Given the description of an element on the screen output the (x, y) to click on. 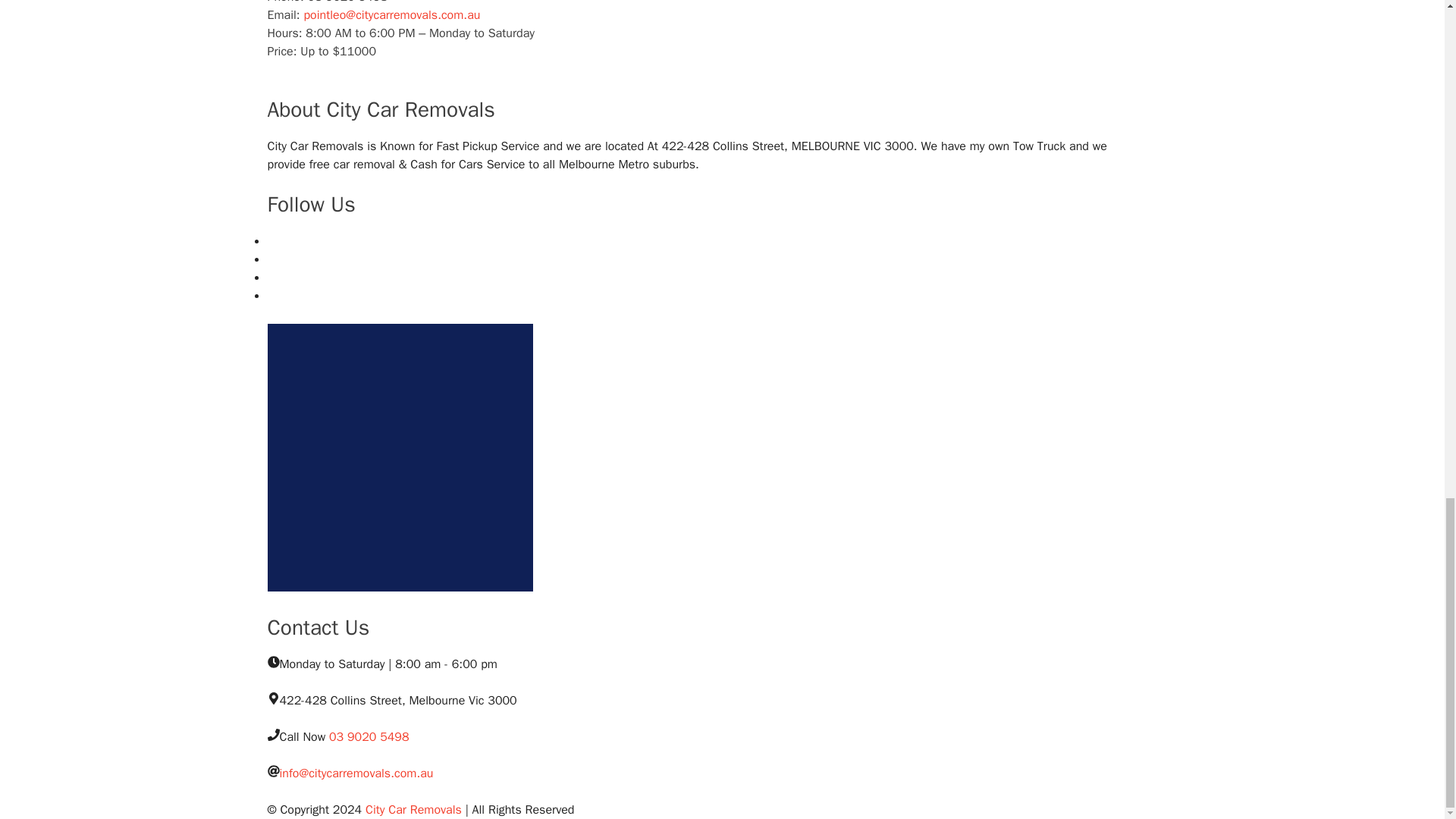
City Car Removals (413, 809)
03 9020 5498 (369, 736)
